Given the description of an element on the screen output the (x, y) to click on. 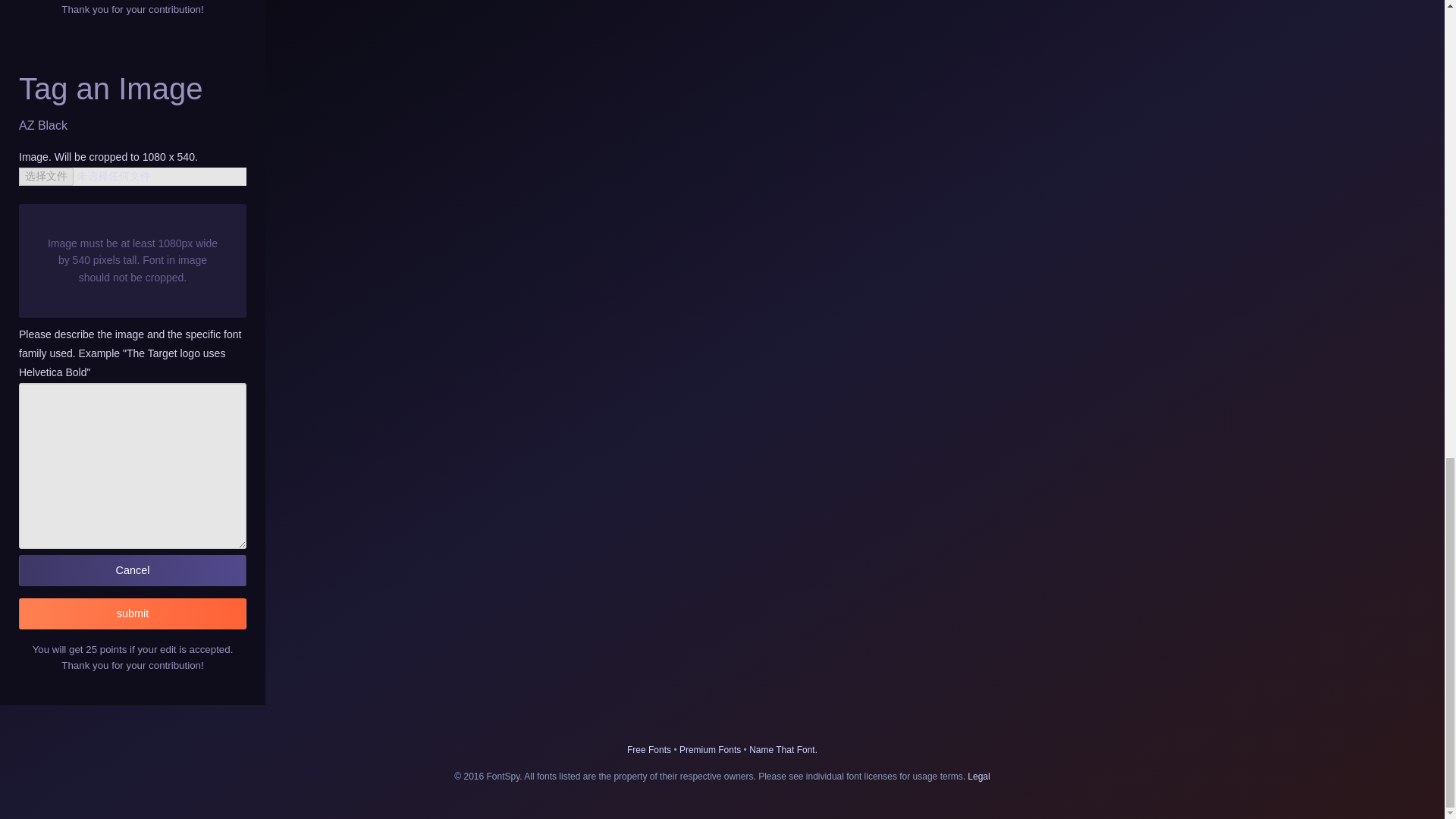
Free Fonts (649, 749)
Premium Fonts (710, 749)
Name That Font. (782, 749)
Cancel (132, 570)
Legal (979, 776)
submit (132, 613)
submit (132, 613)
